Given the description of an element on the screen output the (x, y) to click on. 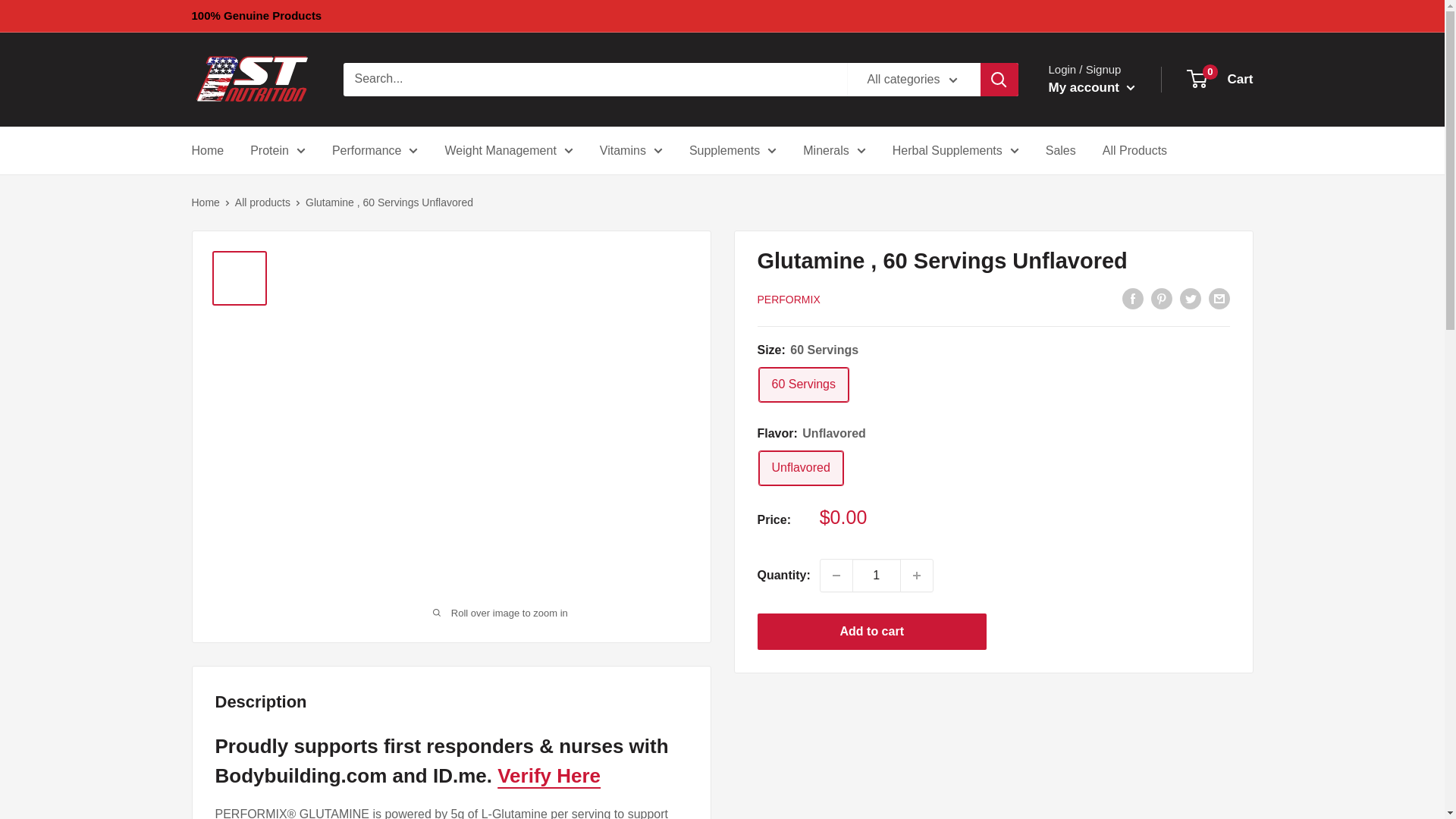
1 (876, 575)
60 Servings (803, 384)
Increase quantity by 1 (917, 575)
Unflavored (800, 468)
Decrease quantity by 1 (836, 575)
